Given the description of an element on the screen output the (x, y) to click on. 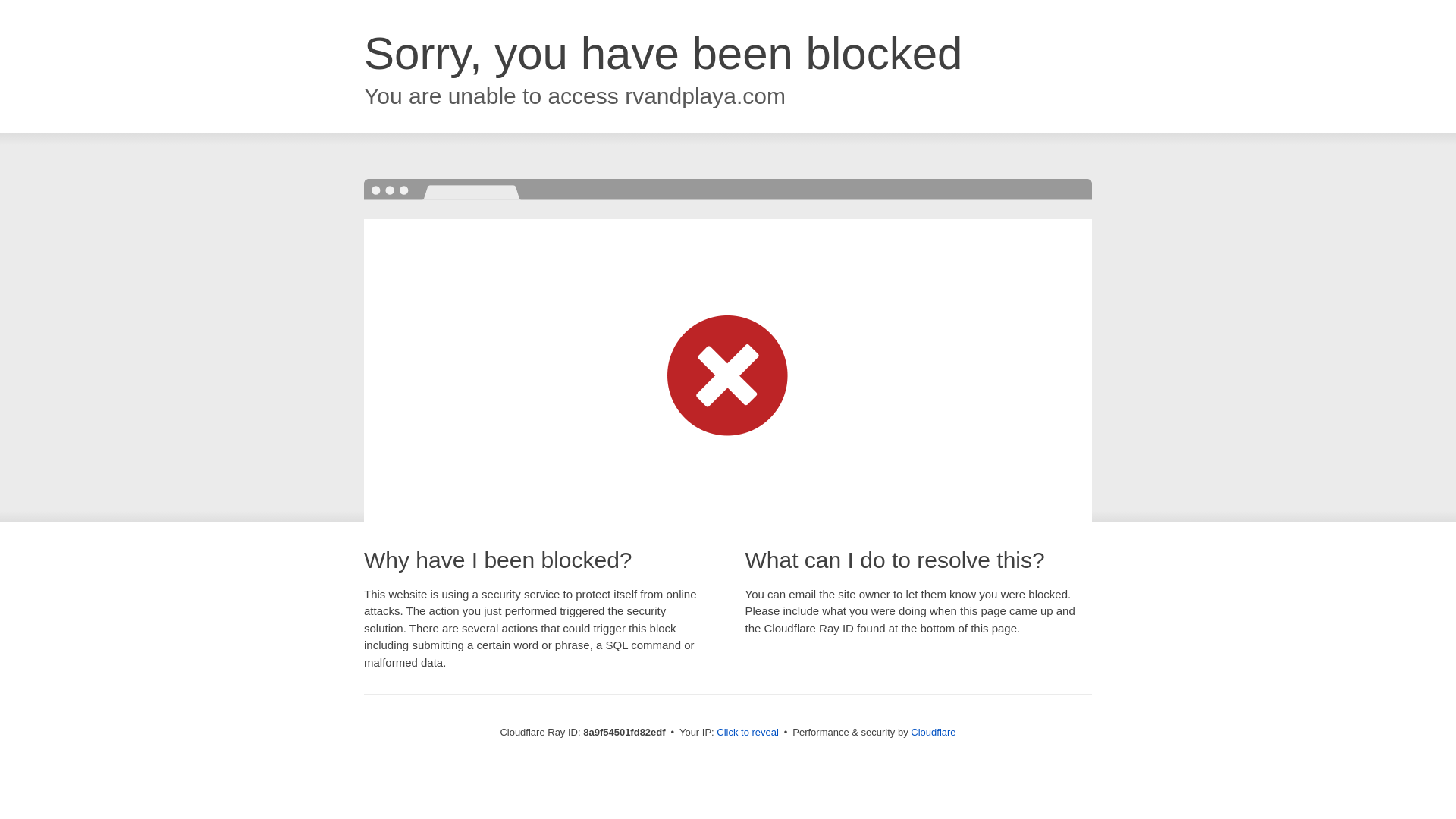
Cloudflare (933, 731)
Click to reveal (747, 732)
